Given the description of an element on the screen output the (x, y) to click on. 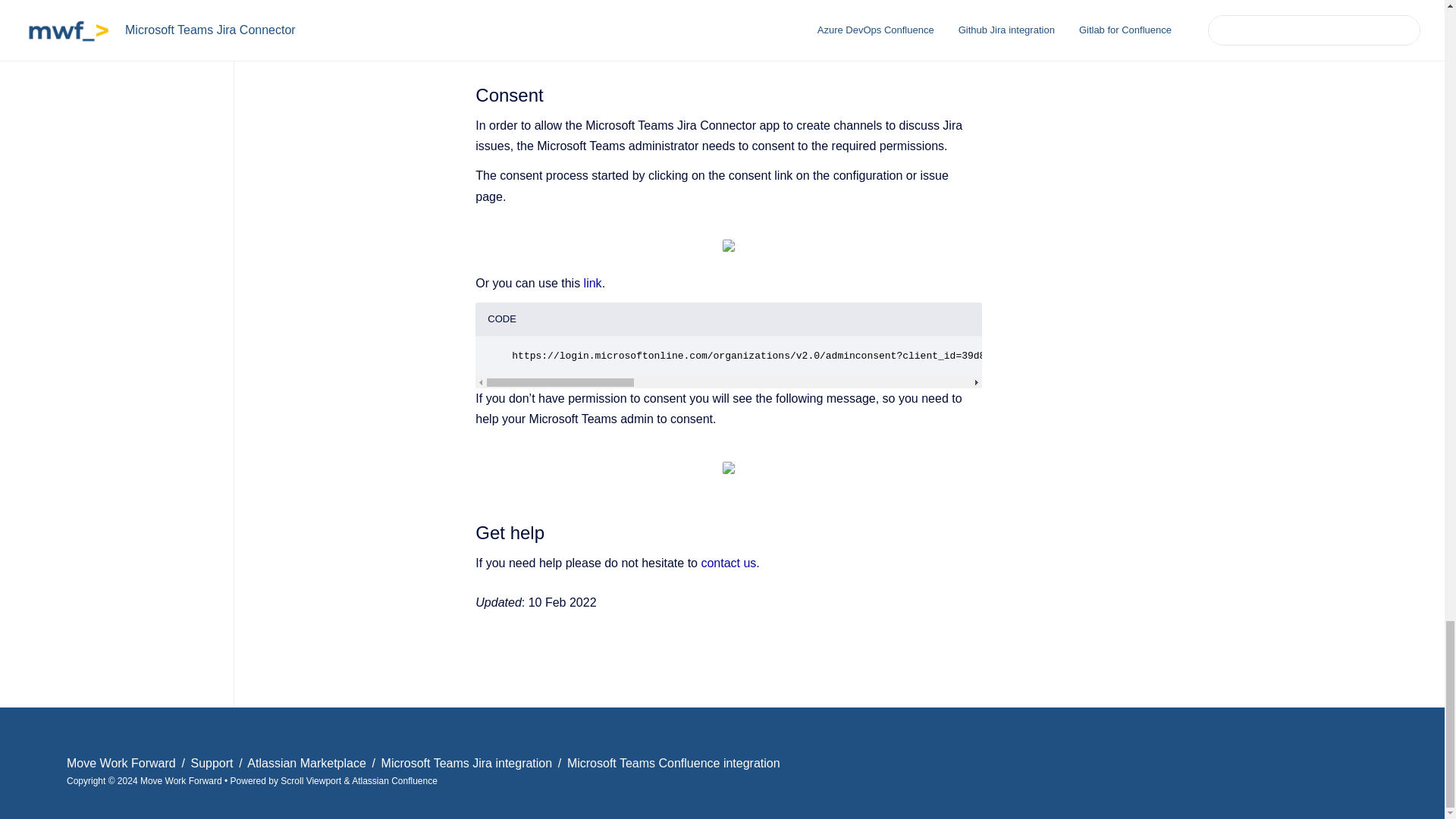
Atlassian Confluence (395, 780)
Support (212, 762)
Scroll Viewport (312, 780)
Microsoft Teams Confluence integration (673, 762)
Move Work Forward (122, 762)
Microsoft Teams Jira integration (468, 762)
Atlassian Marketplace (308, 762)
link (592, 282)
contact us (727, 562)
